Given the description of an element on the screen output the (x, y) to click on. 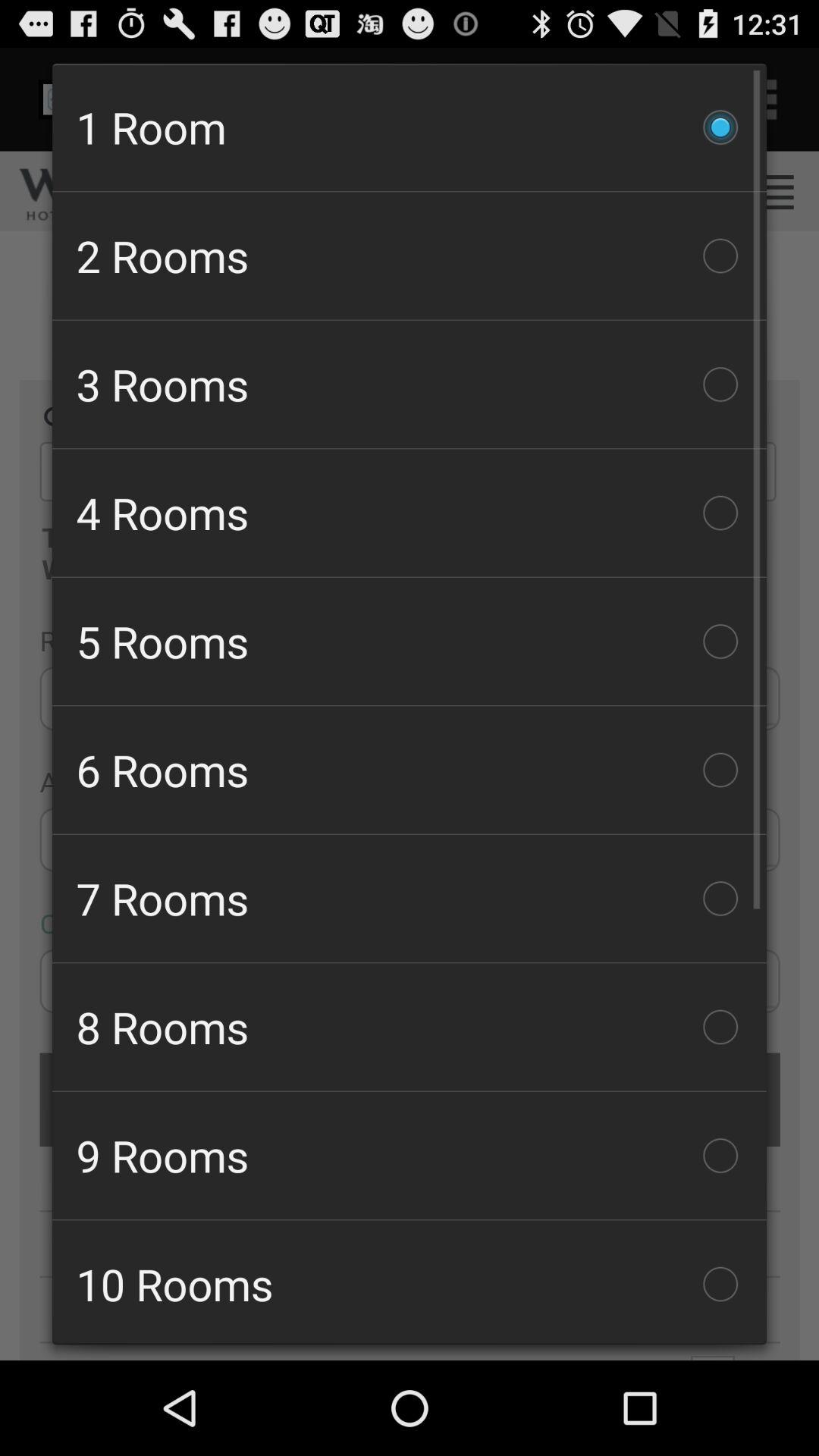
launch the item below the 6 rooms icon (409, 898)
